Given the description of an element on the screen output the (x, y) to click on. 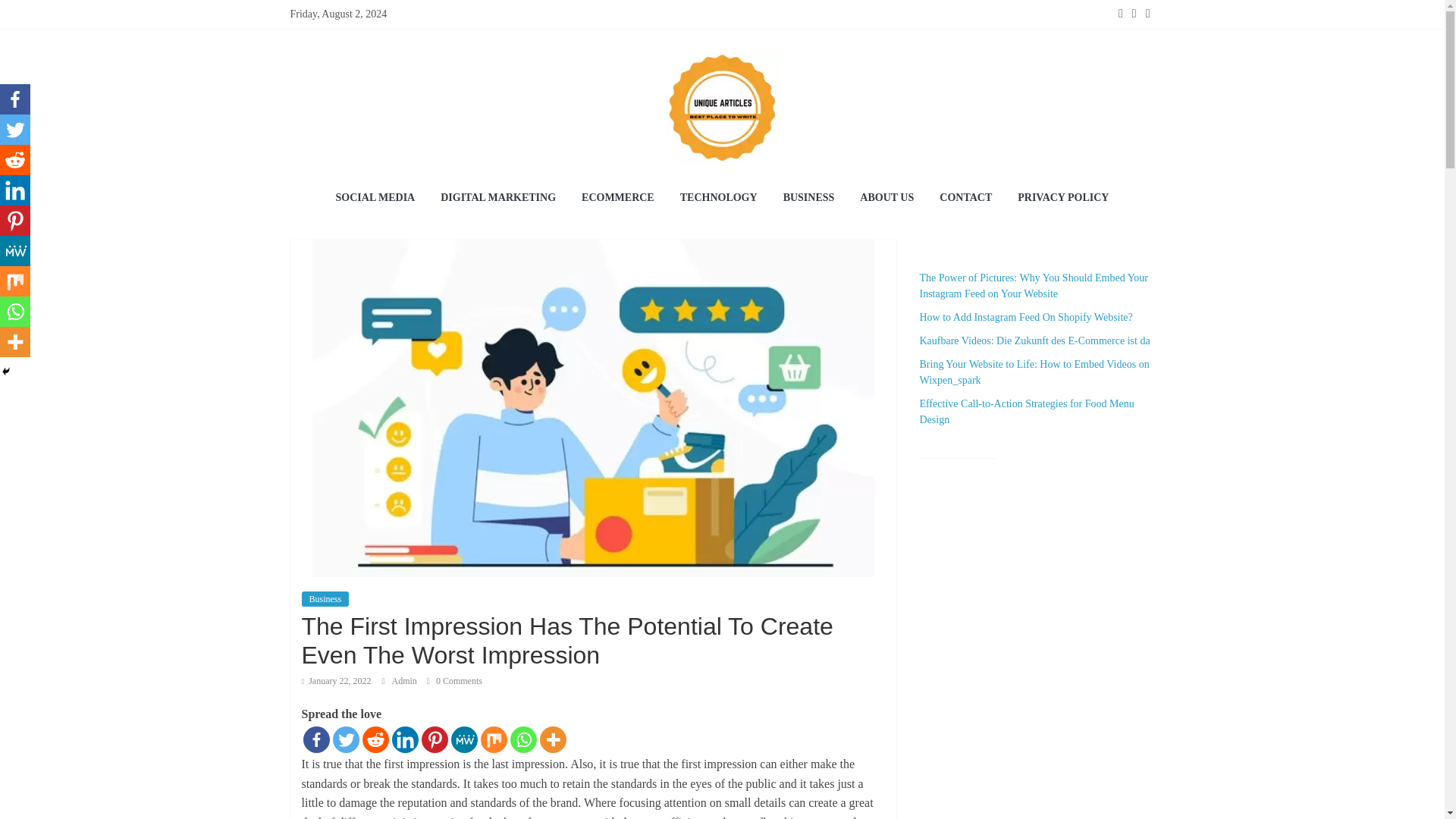
Whatsapp (522, 739)
Business (325, 598)
ECOMMERCE (617, 198)
Admin (405, 680)
Twitter (344, 739)
BUSINESS (808, 198)
Admin (405, 680)
Reddit (15, 159)
Reddit (375, 739)
DIGITAL MARKETING (498, 198)
Twitter (15, 129)
ABOUT US (886, 198)
5:49 am (336, 680)
Linkedin (15, 190)
Linkedin (404, 739)
